Given the description of an element on the screen output the (x, y) to click on. 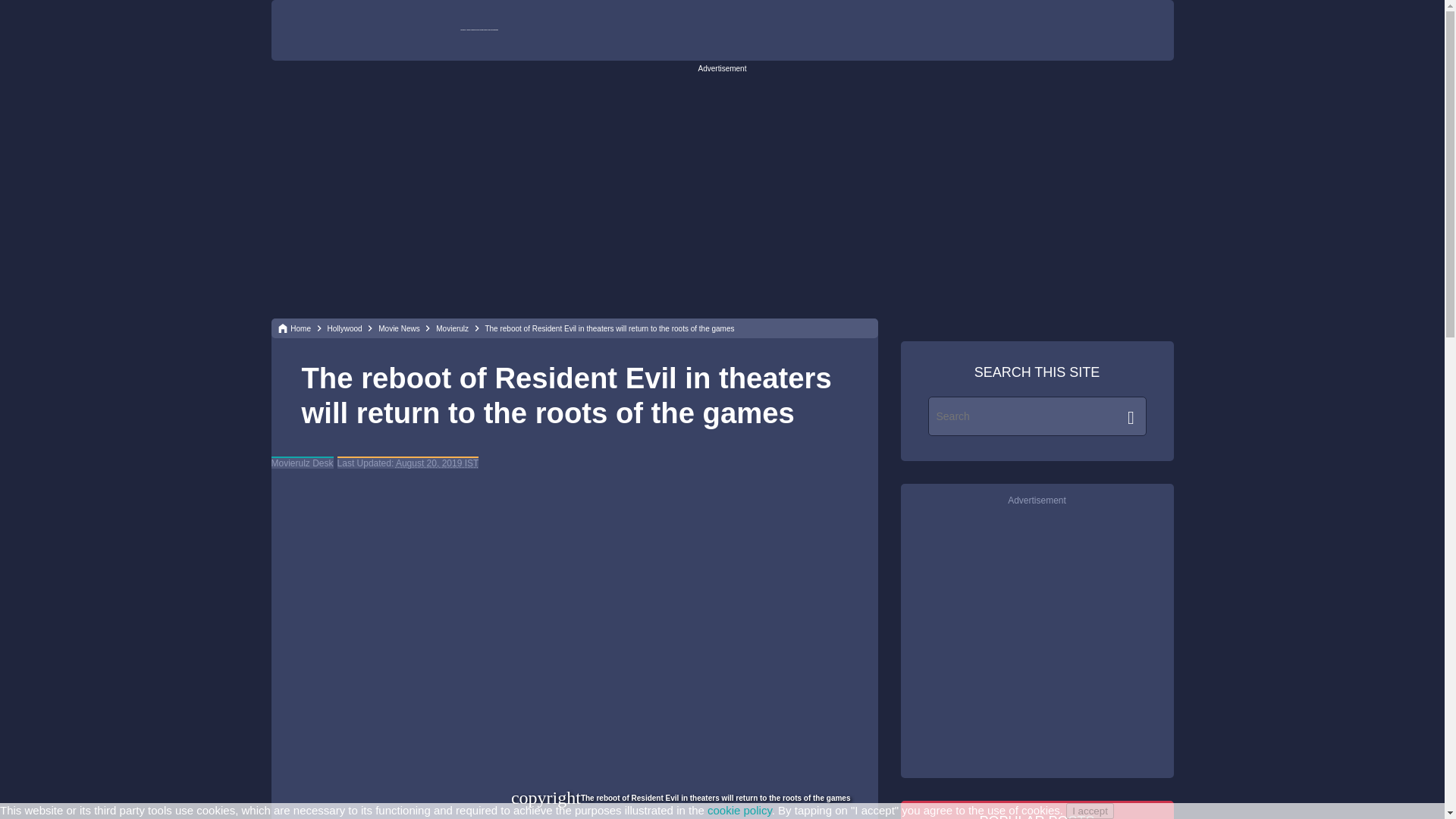
Movierulz (452, 328)
Movie News (400, 328)
Movierulz (452, 328)
Home (300, 328)
Hollywood (346, 328)
Hollywood (346, 328)
August 20, 2019 IST (437, 462)
Movie News (400, 328)
Home (300, 328)
permanent link (437, 462)
